Given the description of an element on the screen output the (x, y) to click on. 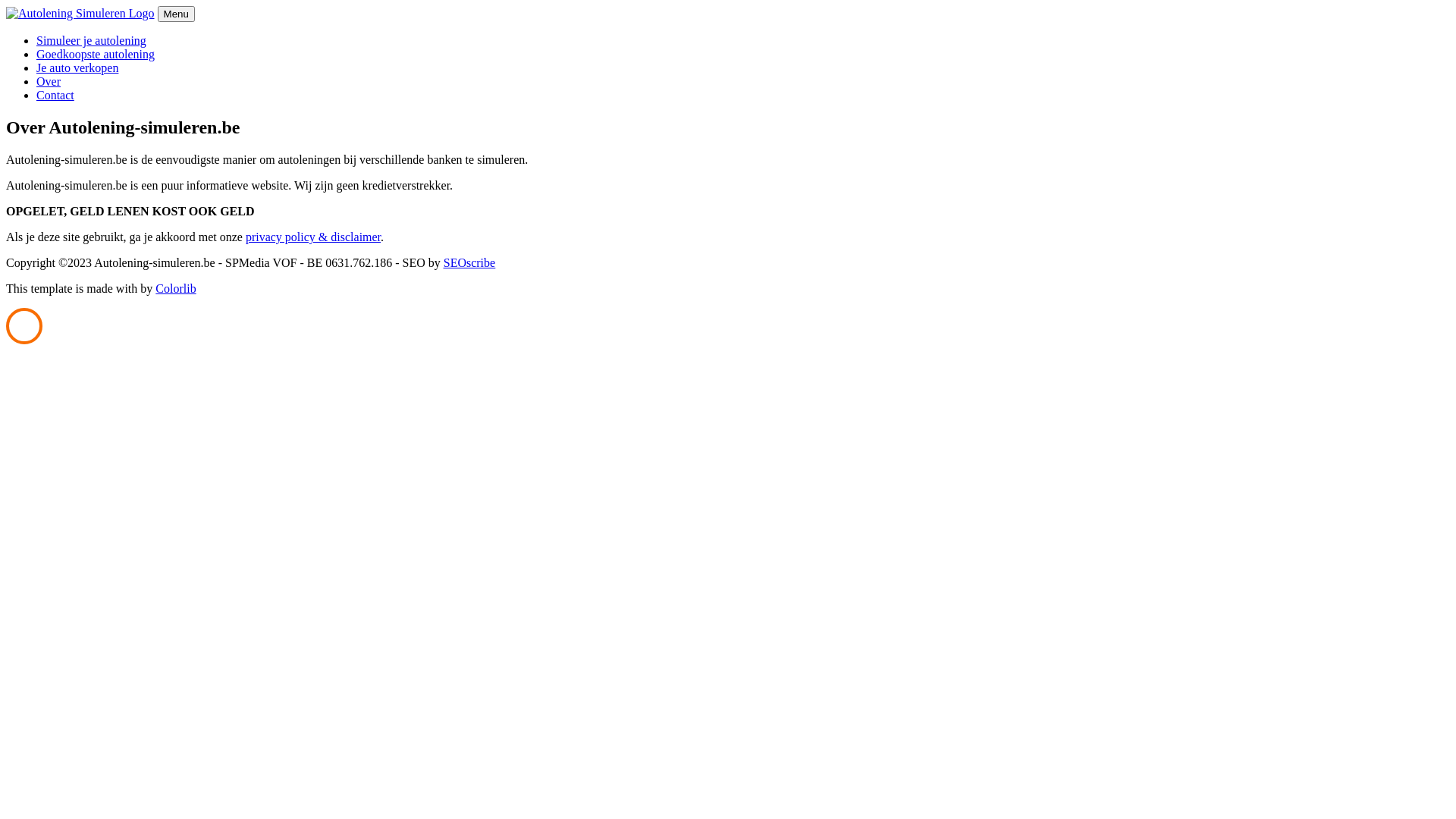
Menu Element type: text (175, 13)
privacy policy & disclaimer Element type: text (312, 236)
Colorlib Element type: text (175, 288)
SEOscribe Element type: text (469, 262)
Simuleer je autolening Element type: text (91, 40)
Contact Element type: text (55, 94)
Over Element type: text (48, 81)
Goedkoopste autolening Element type: text (95, 53)
Je auto verkopen Element type: text (77, 67)
